Given the description of an element on the screen output the (x, y) to click on. 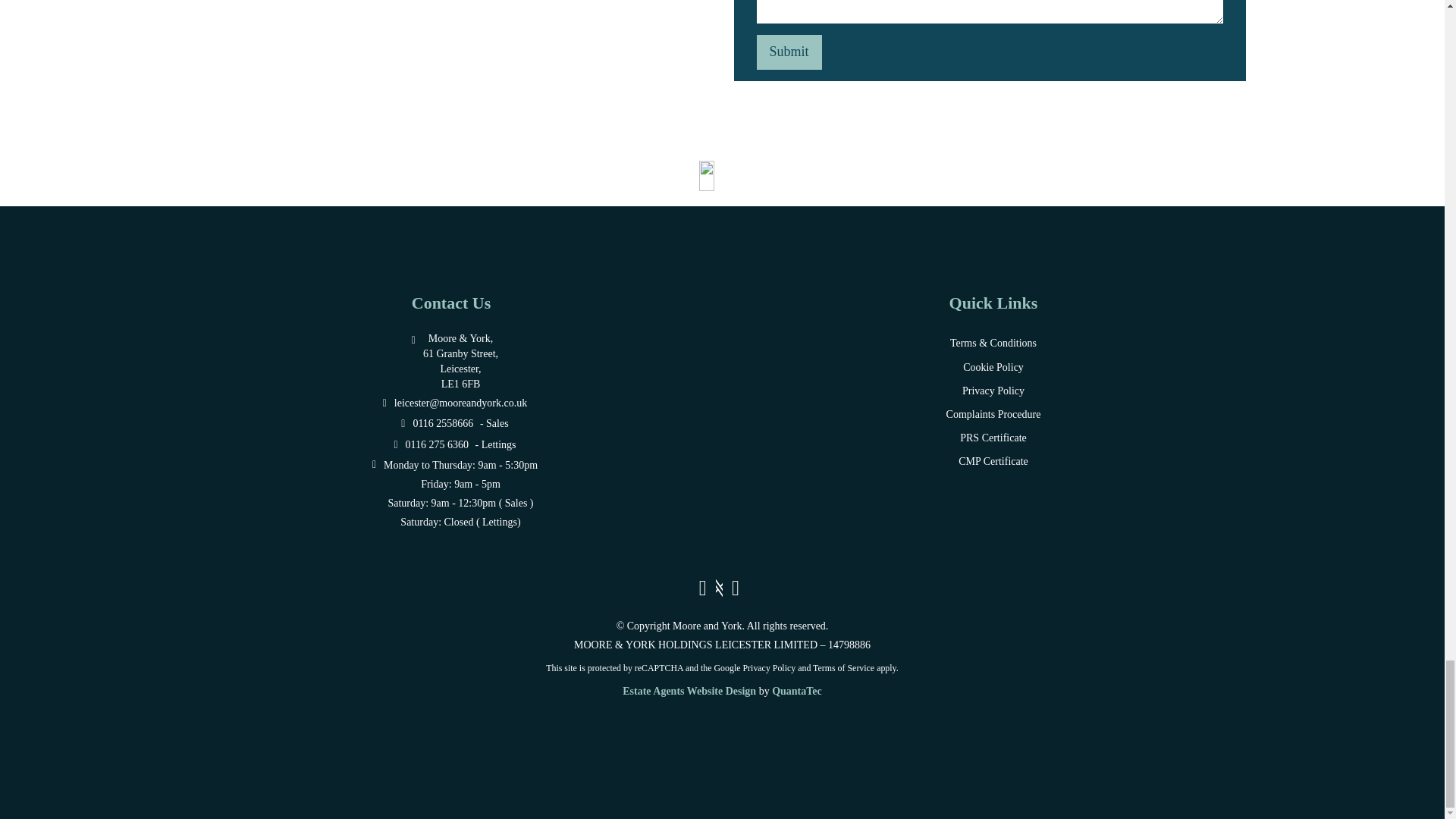
Submit (789, 52)
